Given the description of an element on the screen output the (x, y) to click on. 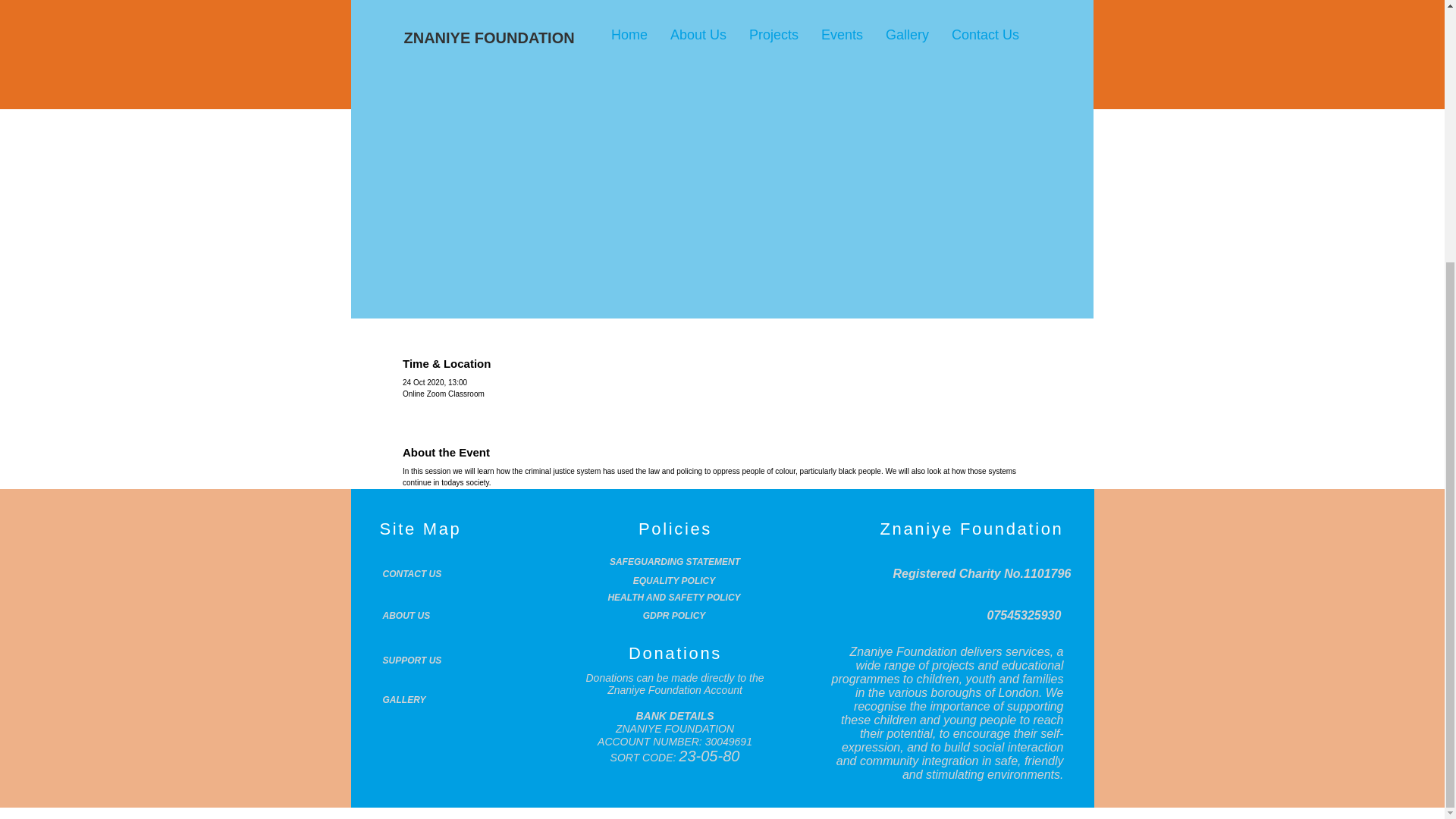
SUPPORT US (419, 660)
EQUALITY POLICY (674, 580)
GALLERY (419, 699)
SAFEGUARDING STATEMENT (675, 562)
CONTACT US (419, 573)
ABOUT US (419, 615)
